Given the description of an element on the screen output the (x, y) to click on. 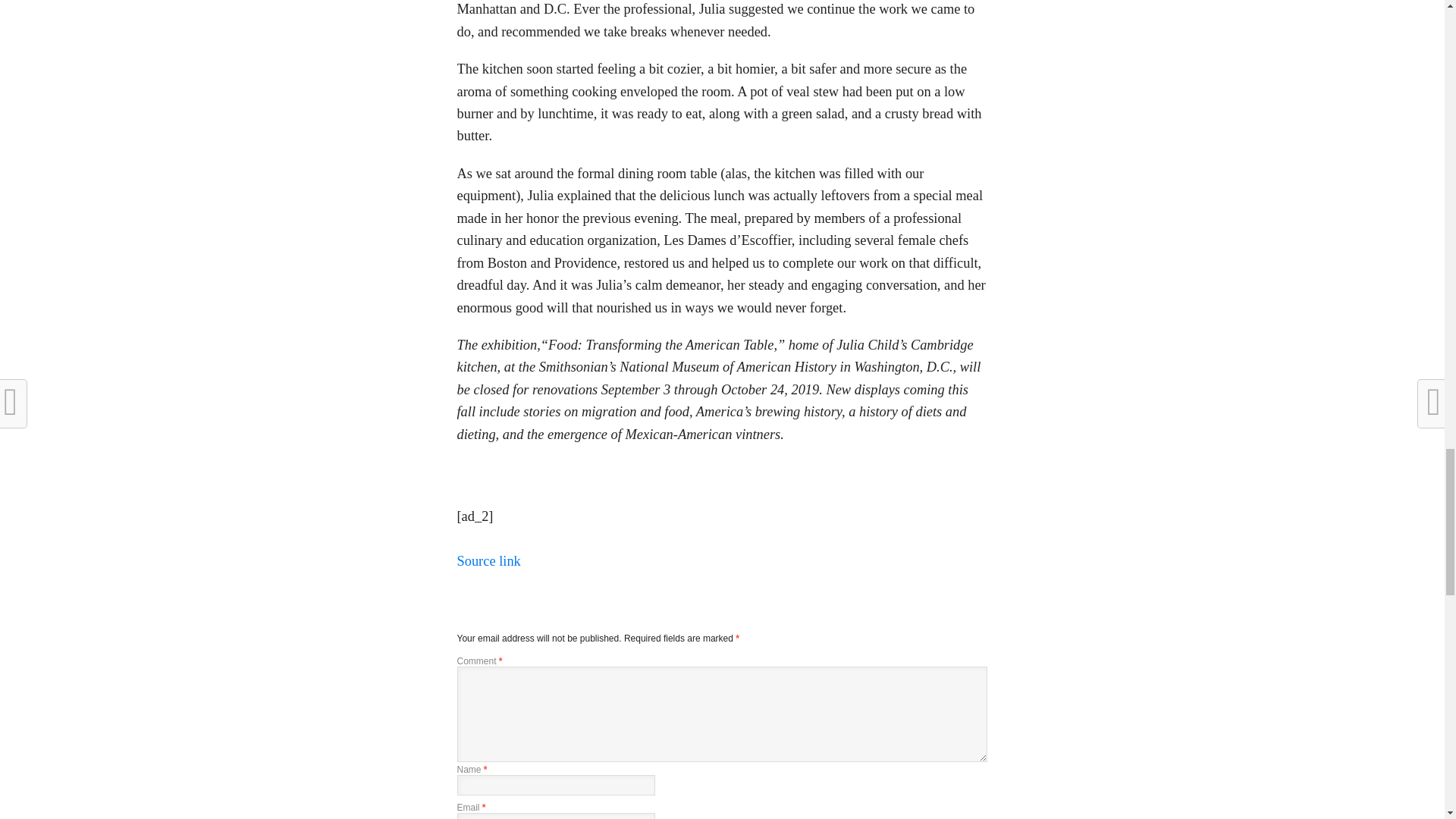
Source link (488, 560)
